Given the description of an element on the screen output the (x, y) to click on. 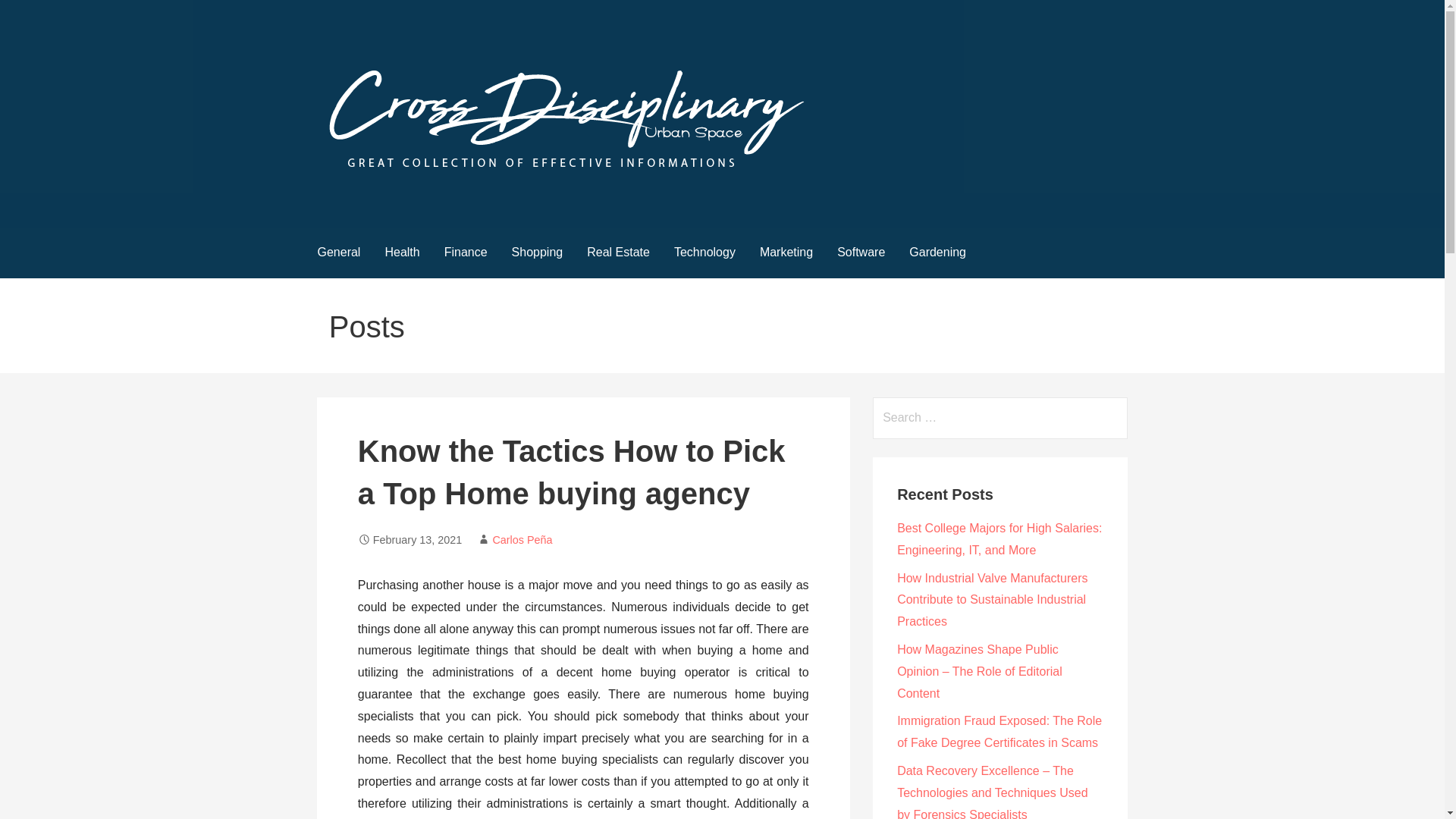
General (338, 252)
Software (860, 252)
Real Estate (618, 252)
Marketing (786, 252)
Shopping (537, 252)
Health (401, 252)
Technology (705, 252)
Cross Disciplinary Urban Space (502, 195)
Gardening (937, 252)
